Given the description of an element on the screen output the (x, y) to click on. 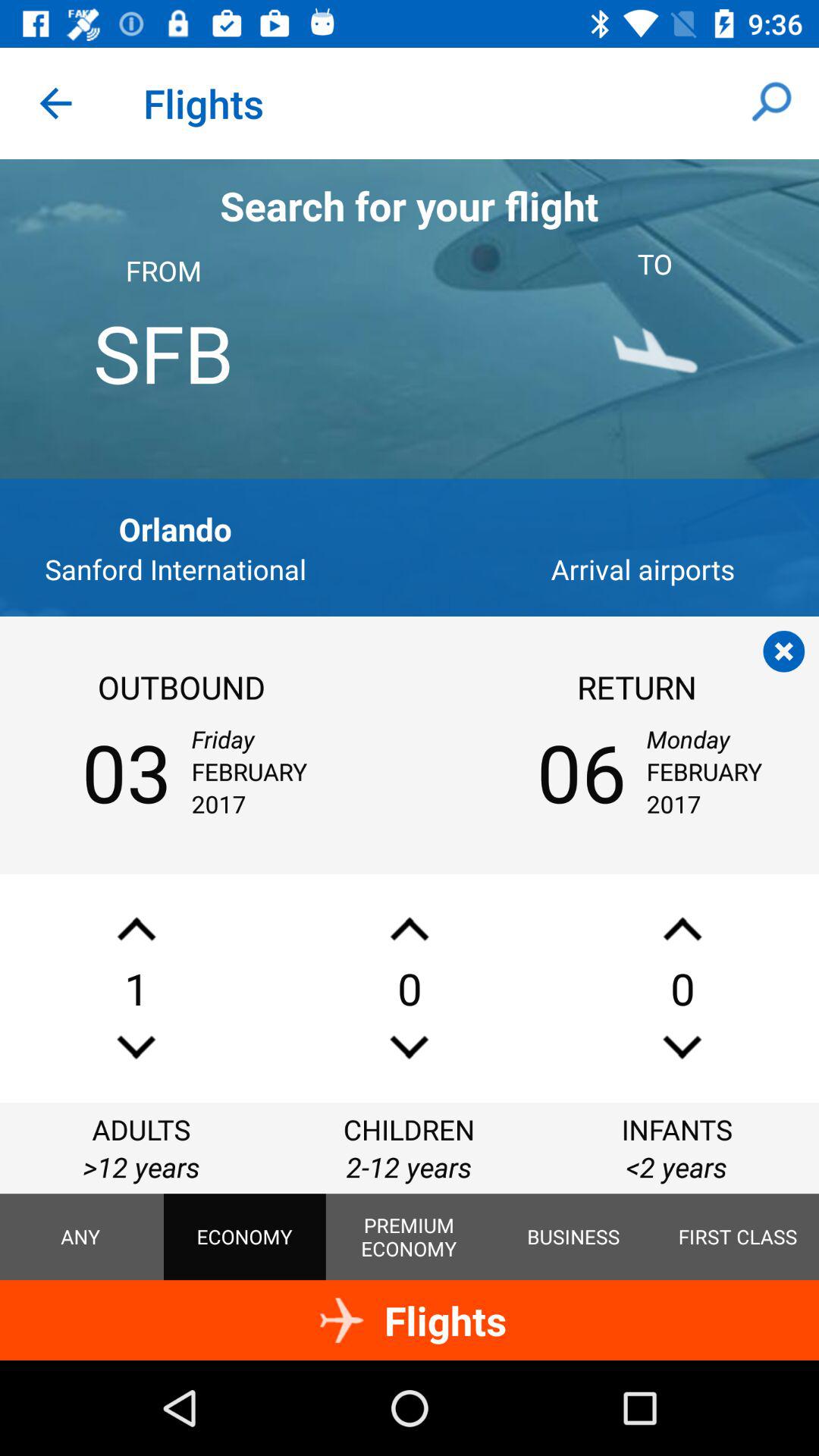
select the icon below >12 years icon (80, 1236)
